Given the description of an element on the screen output the (x, y) to click on. 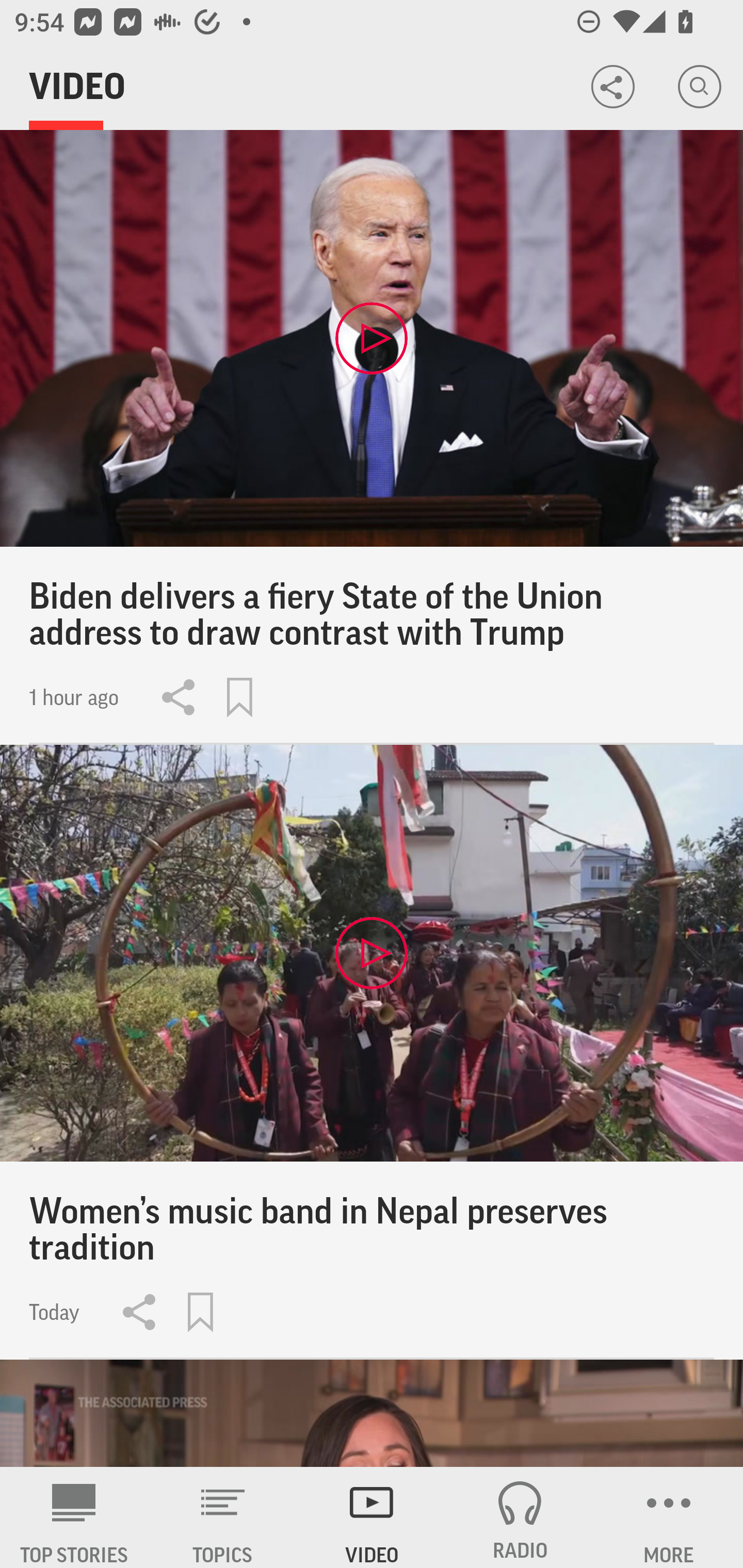
AP News TOP STORIES (74, 1517)
TOPICS (222, 1517)
VIDEO (371, 1517)
RADIO (519, 1517)
MORE (668, 1517)
